Given the description of an element on the screen output the (x, y) to click on. 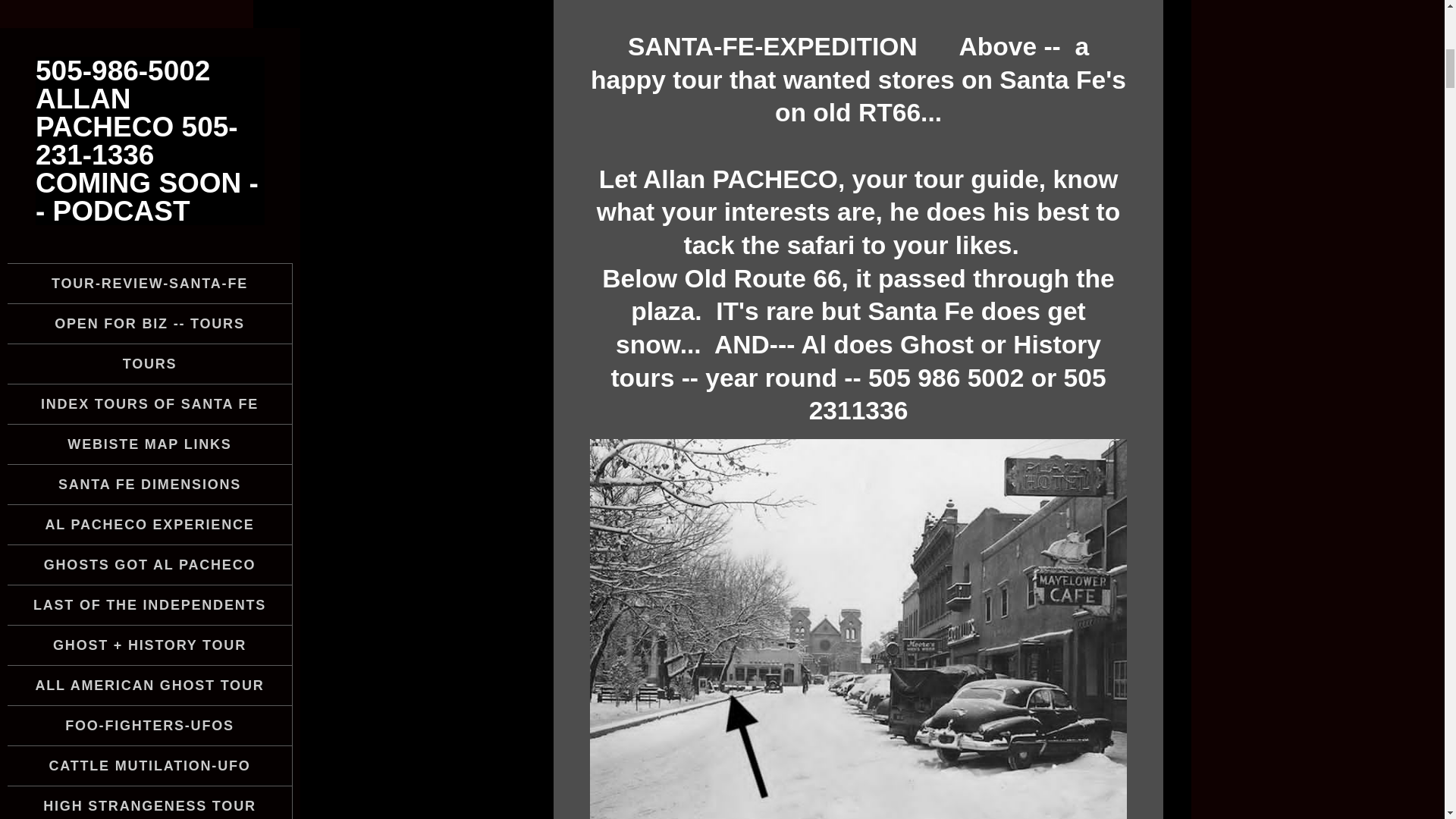
TREKS-TOURS (149, 268)
SF--DOWNTOWN-TOUR (149, 308)
HISTORIC WALK (149, 468)
HIGH STRANGENESS TOUR (149, 3)
HISTORY-TOUR-SANTA-FE (149, 790)
GHOST-TOURS IN SANTA FE (149, 66)
SITEMAP GHOST-HISTORY (149, 388)
UFO-DATA (149, 228)
S.F. N.M. HISTORY TOUR (149, 147)
